Given the description of an element on the screen output the (x, y) to click on. 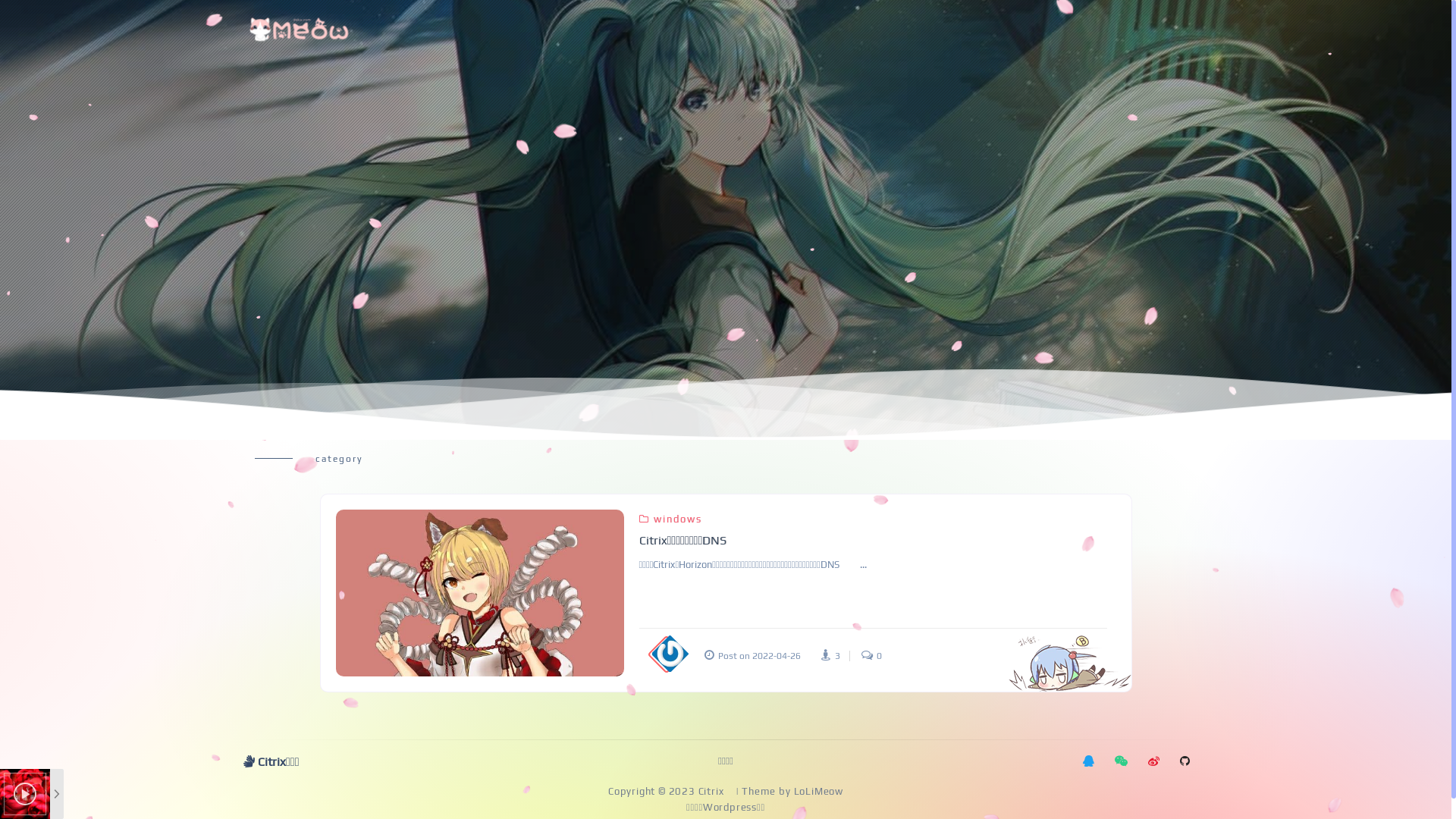
LoLiMeow Element type: text (817, 791)
windows Element type: text (669, 518)
boxmoe Element type: hover (299, 28)
